Given the description of an element on the screen output the (x, y) to click on. 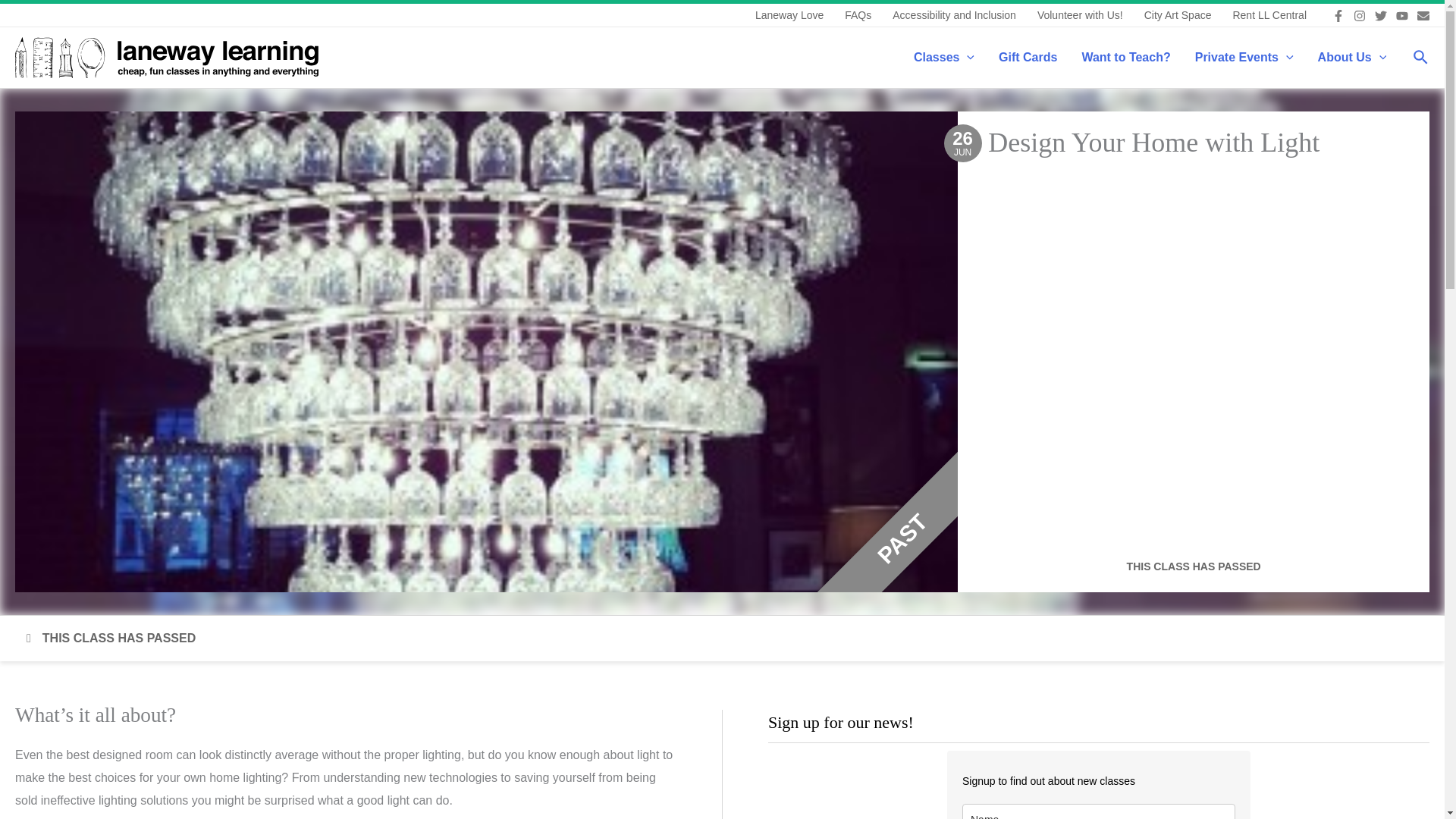
Rent LL Central (1269, 15)
Laneway Love (789, 15)
Want to Teach? (1125, 57)
Private Events (1244, 57)
Gift Cards (1027, 57)
Volunteer with Us! (1080, 15)
FAQs (858, 15)
City Art Space (1178, 15)
Classes (944, 57)
Accessibility and Inclusion (954, 15)
